Given the description of an element on the screen output the (x, y) to click on. 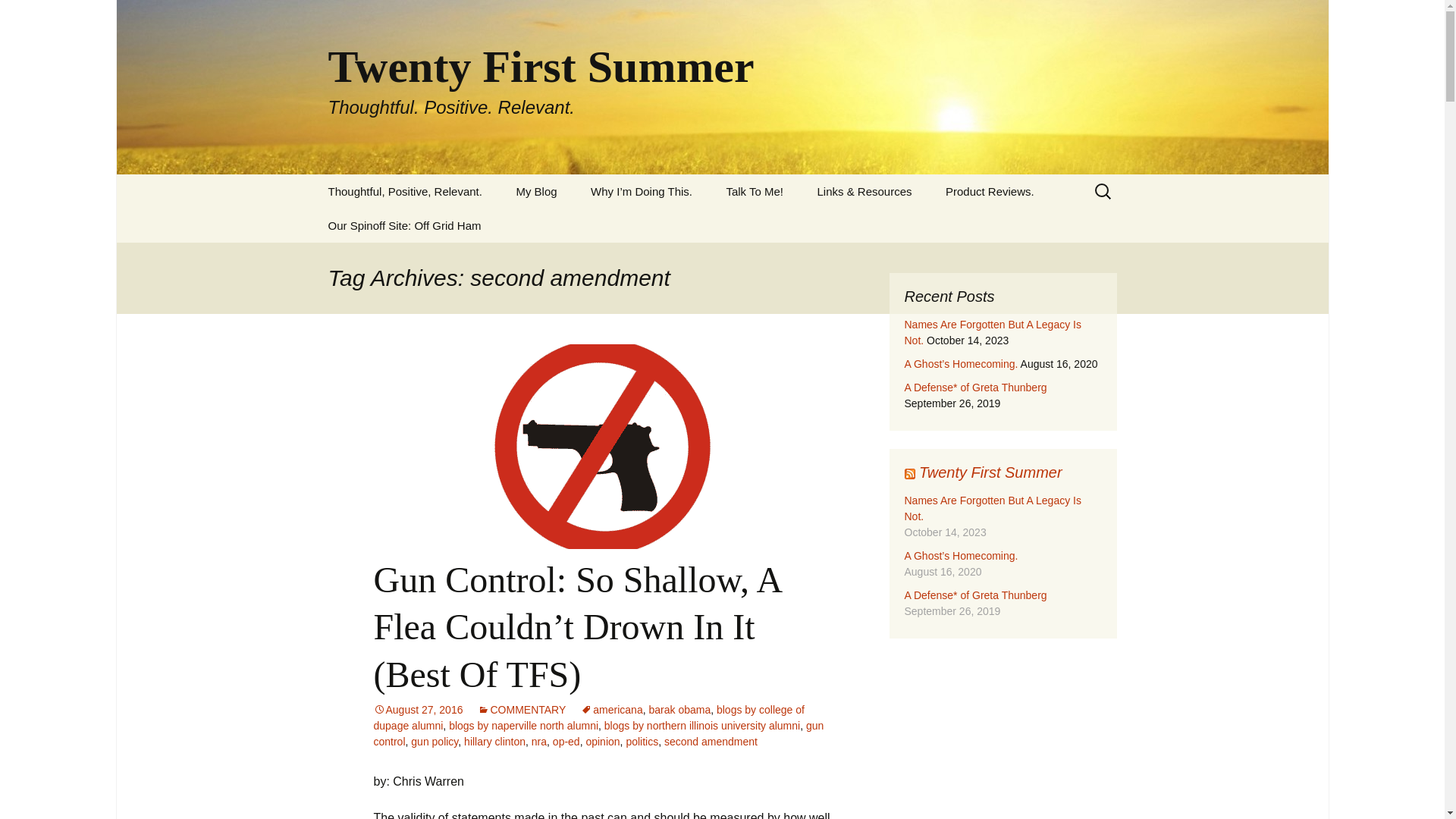
gun policy (434, 741)
blogs by naperville north alumni (523, 725)
Our Spinoff Site: Off Grid Ham (404, 225)
Product Reviews. (989, 191)
My Blog (536, 191)
August 27, 2016 (417, 709)
op-ed (566, 741)
hillary clinton (494, 741)
COMMENTARY (521, 709)
